Given the description of an element on the screen output the (x, y) to click on. 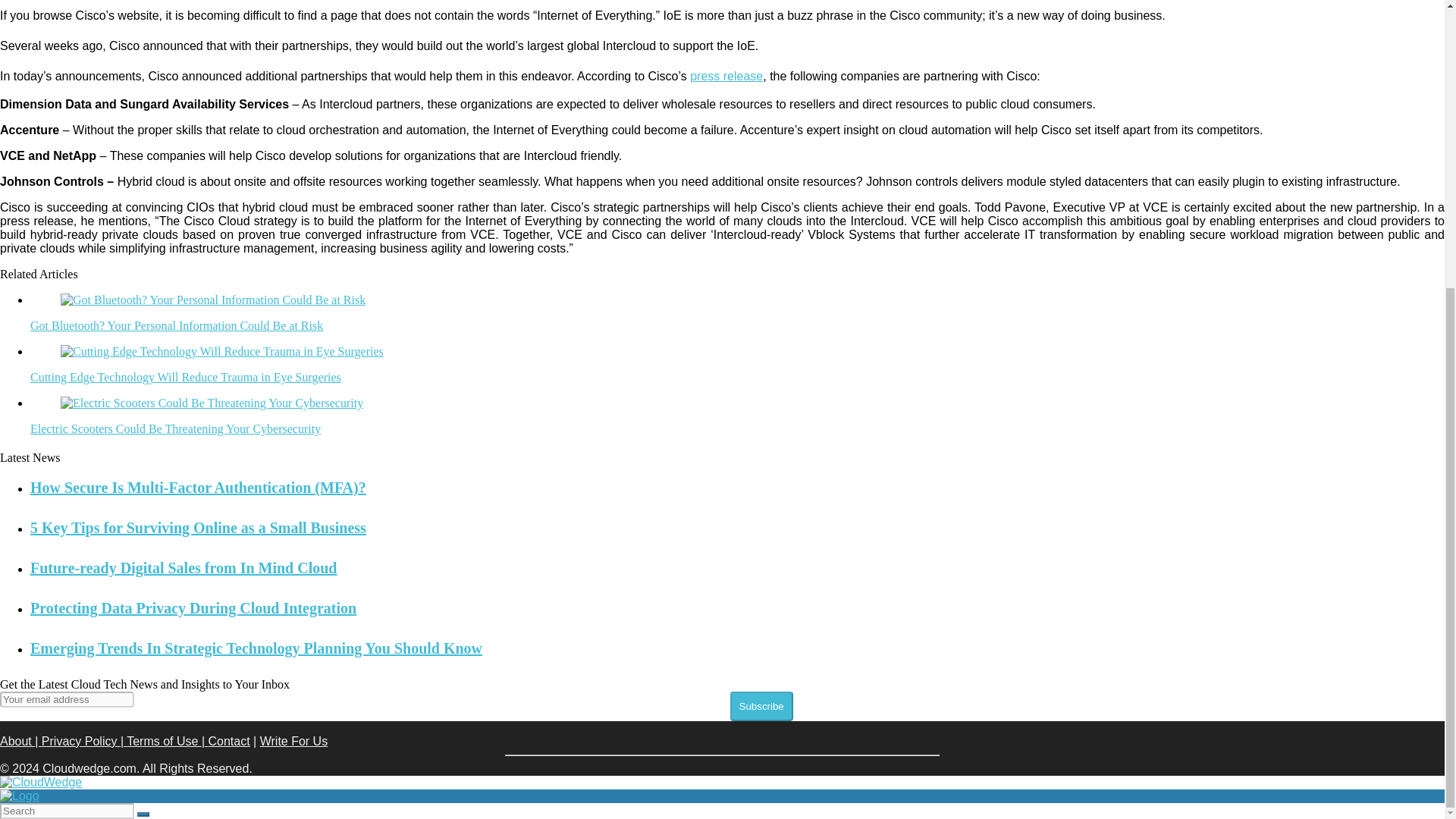
press release (726, 75)
Protecting Data Privacy During Cloud Integration (193, 607)
Contact (228, 740)
Subscribe (760, 706)
5 Key Tips for Surviving Online as a Small Business (198, 527)
Got Bluetooth? Your Personal Information Could Be at Risk (176, 325)
Future-ready Digital Sales from In Mind Cloud (183, 567)
Electric Scooters Could Be Threatening Your Cybersecurity (175, 428)
Electric Scooters Could Be Threatening Your Cybersecurity (175, 428)
Got Bluetooth? Your Personal Information Could Be at Risk (176, 325)
Cutting Edge Technology Will Reduce Trauma in Eye Surgeries (185, 377)
Cutting Edge Technology Will Reduce Trauma in Eye Surgeries (185, 377)
Subscribe (760, 706)
